Given the description of an element on the screen output the (x, y) to click on. 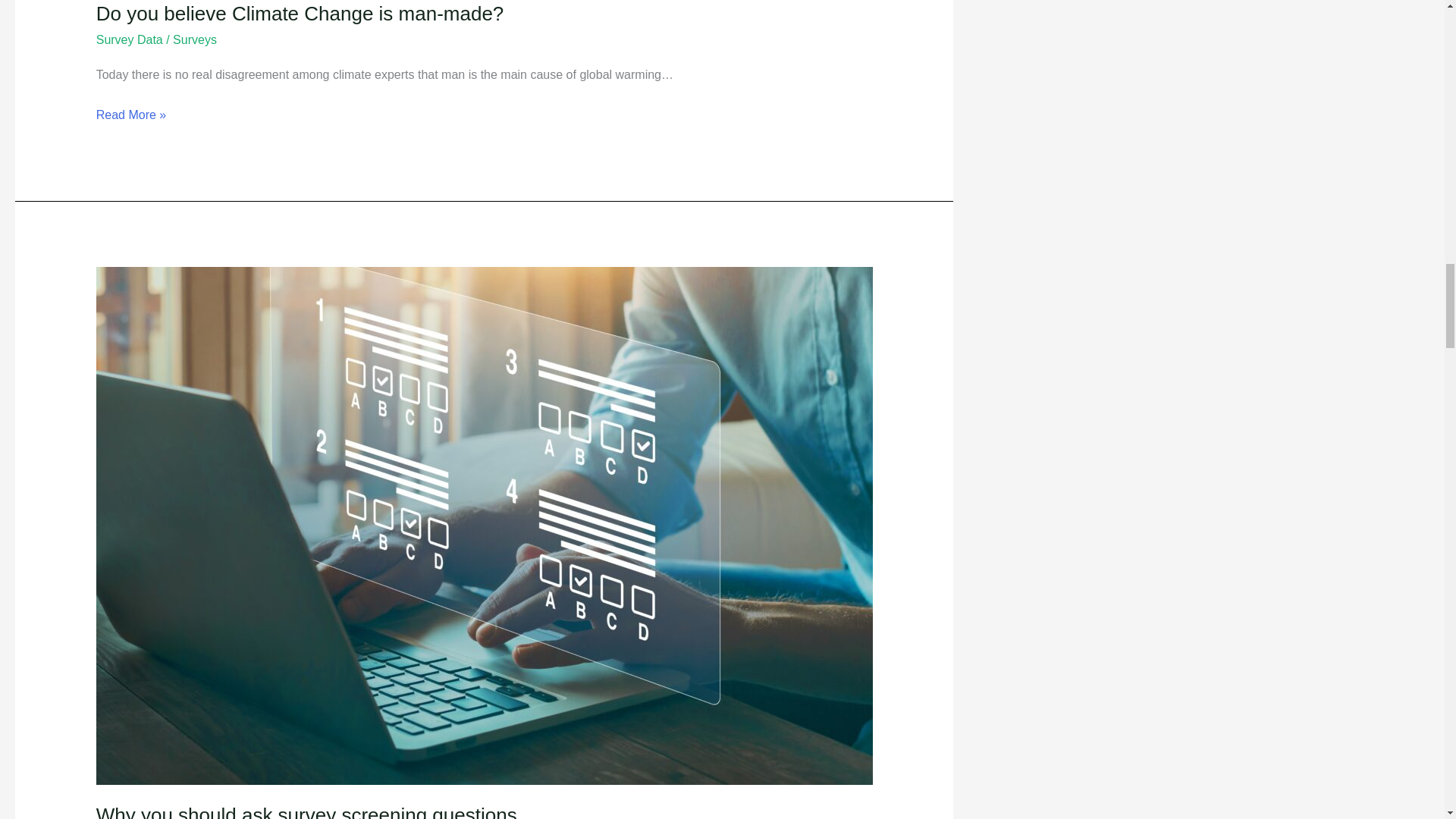
Survey Data (129, 39)
Do you believe Climate Change is man-made? (299, 13)
Surveys (194, 39)
